Given the description of an element on the screen output the (x, y) to click on. 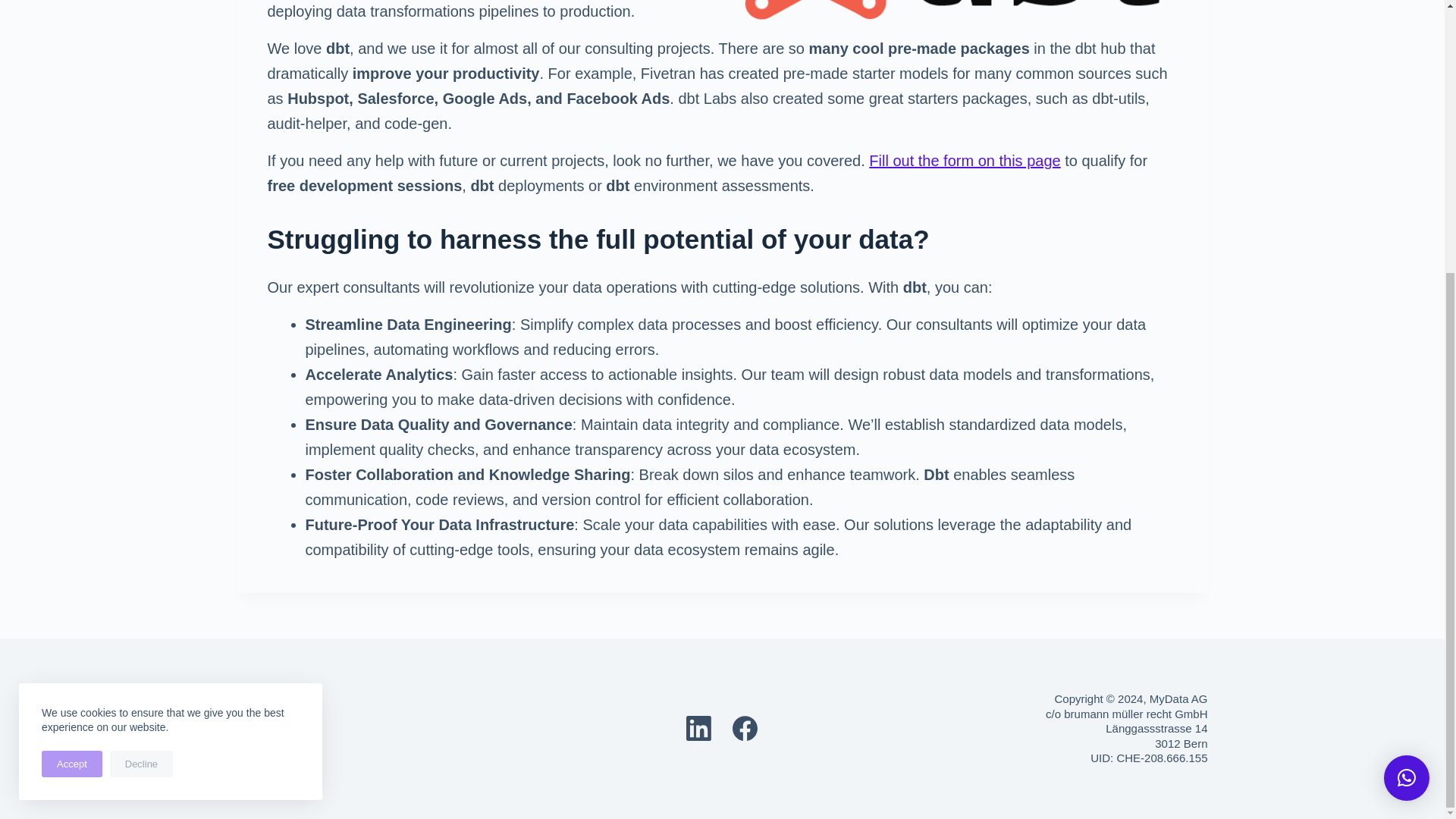
Decline (141, 362)
CHE-208.666.155 (1161, 757)
Accept (71, 362)
Fill out the form on this page (964, 160)
